Given the description of an element on the screen output the (x, y) to click on. 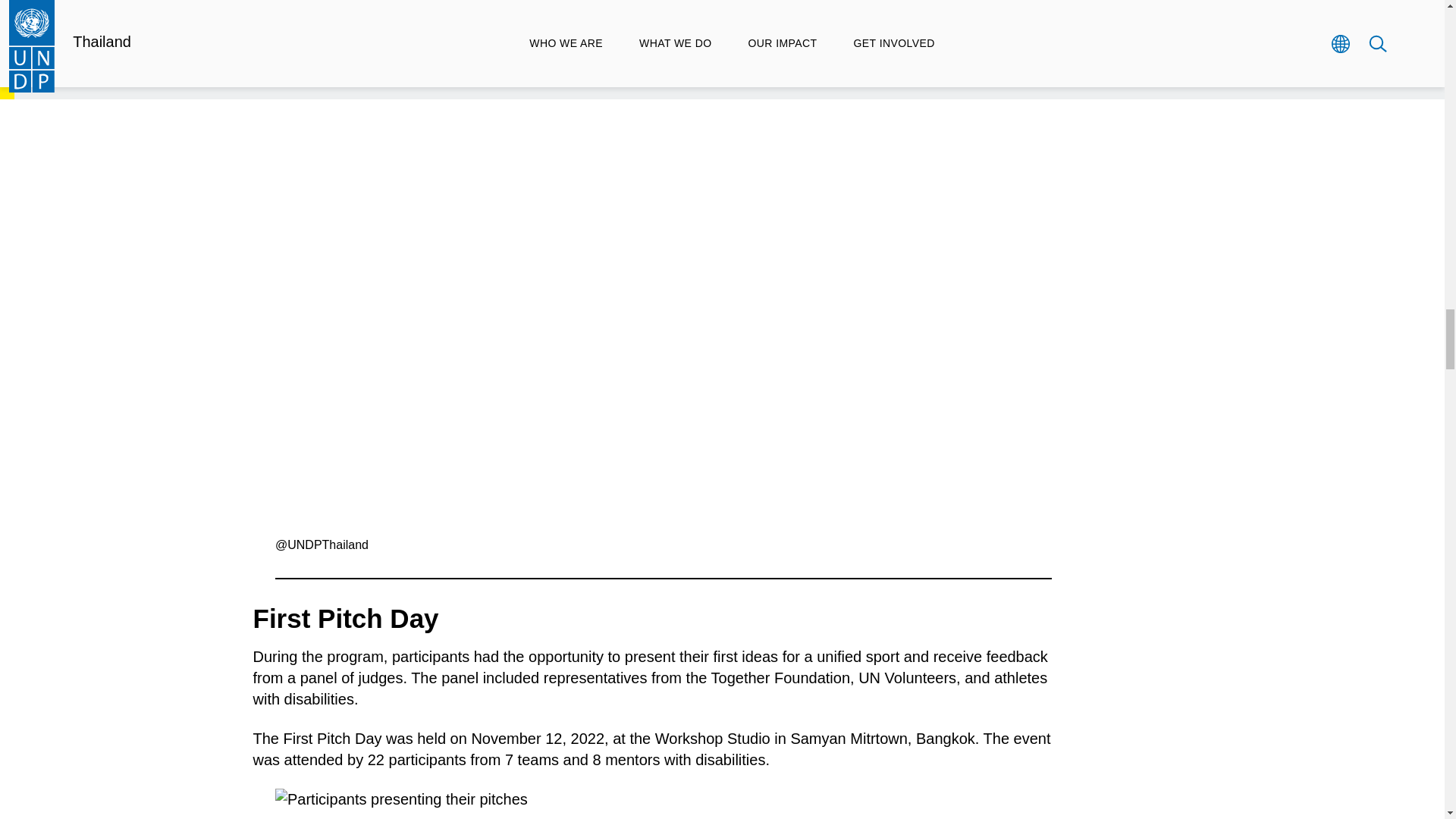
Participants presenting their pitches (663, 803)
